Given the description of an element on the screen output the (x, y) to click on. 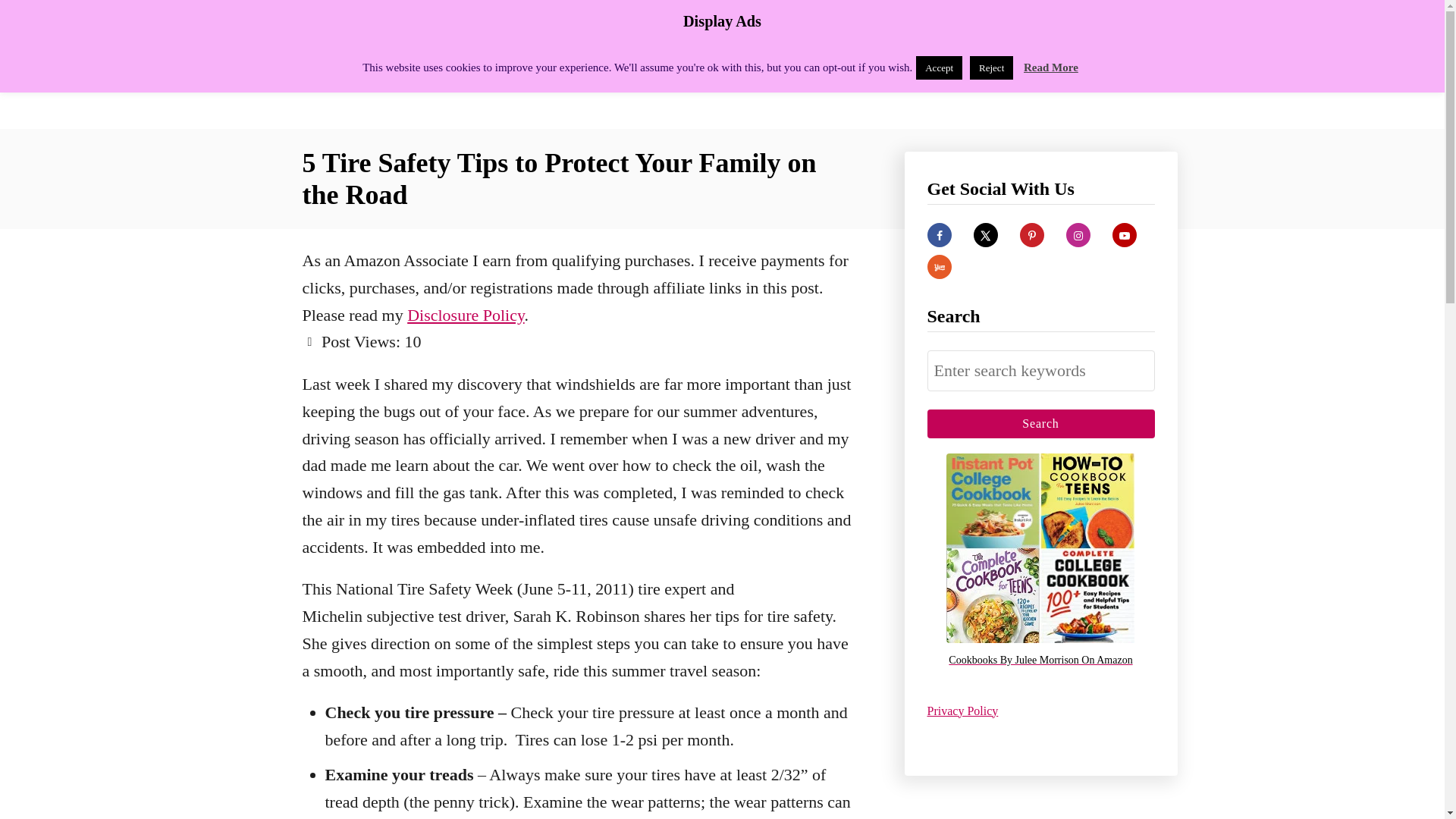
Cookbooks By Julee Morrison On Amazon (1040, 660)
Search (1040, 423)
Disclosure Policy (465, 313)
Search for: (1040, 370)
Search (1040, 423)
Mommy's Memorandum (433, 64)
Follow on Yummly (938, 266)
Read More (1050, 67)
Accept (938, 67)
Follow on YouTube (1124, 234)
Follow on Instagram (1077, 234)
Follow on Pinterest (1031, 234)
Privacy Policy (961, 709)
Reject (991, 67)
Search (1040, 423)
